Given the description of an element on the screen output the (x, y) to click on. 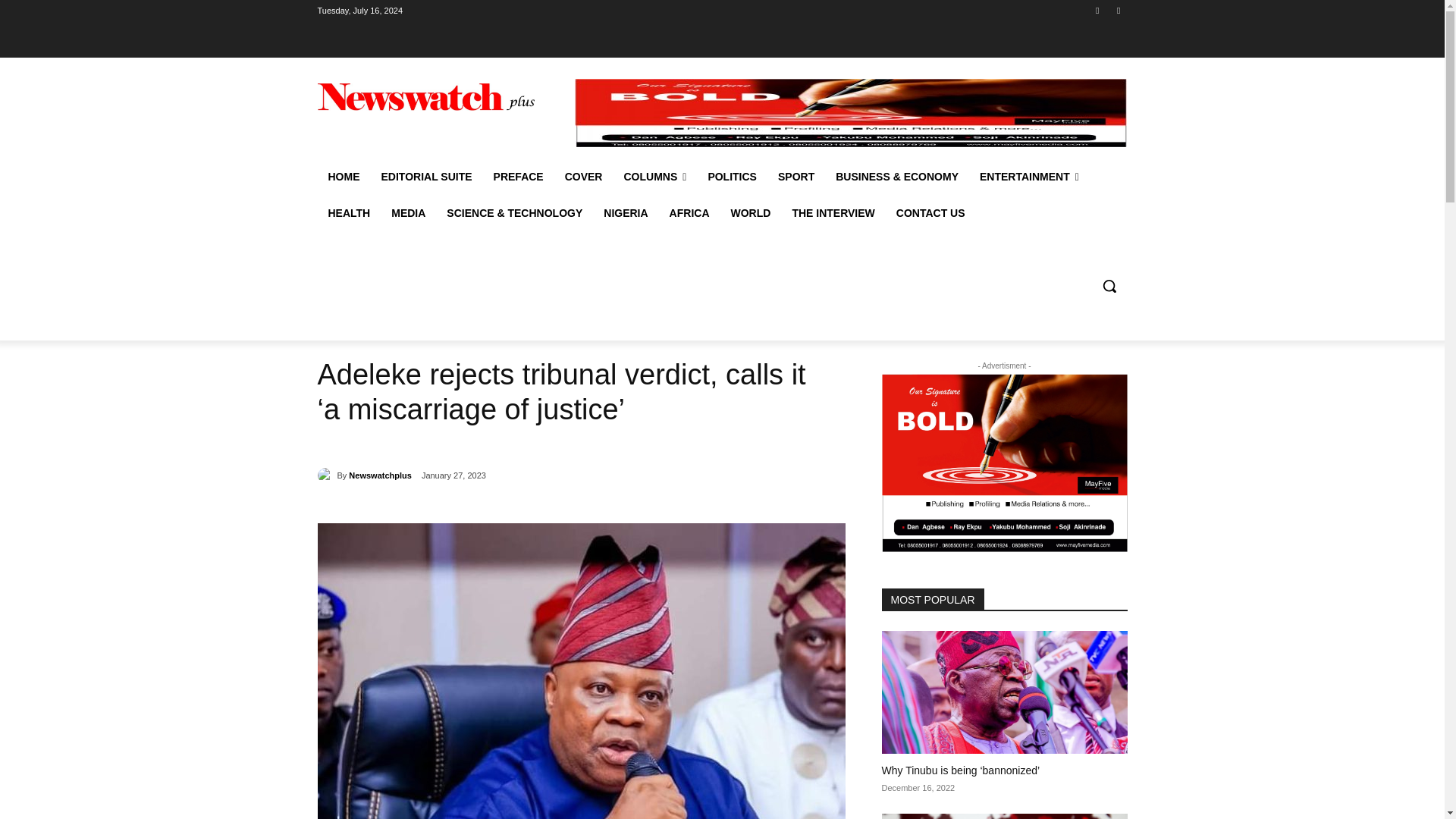
Newswatchplus (326, 475)
COVER (583, 176)
HOME (343, 176)
PREFACE (518, 176)
POLITICS (732, 176)
Facebook (1097, 9)
COLUMNS (654, 176)
SPORT (796, 176)
Twitter (1117, 9)
EDITORIAL SUITE (425, 176)
